Given the description of an element on the screen output the (x, y) to click on. 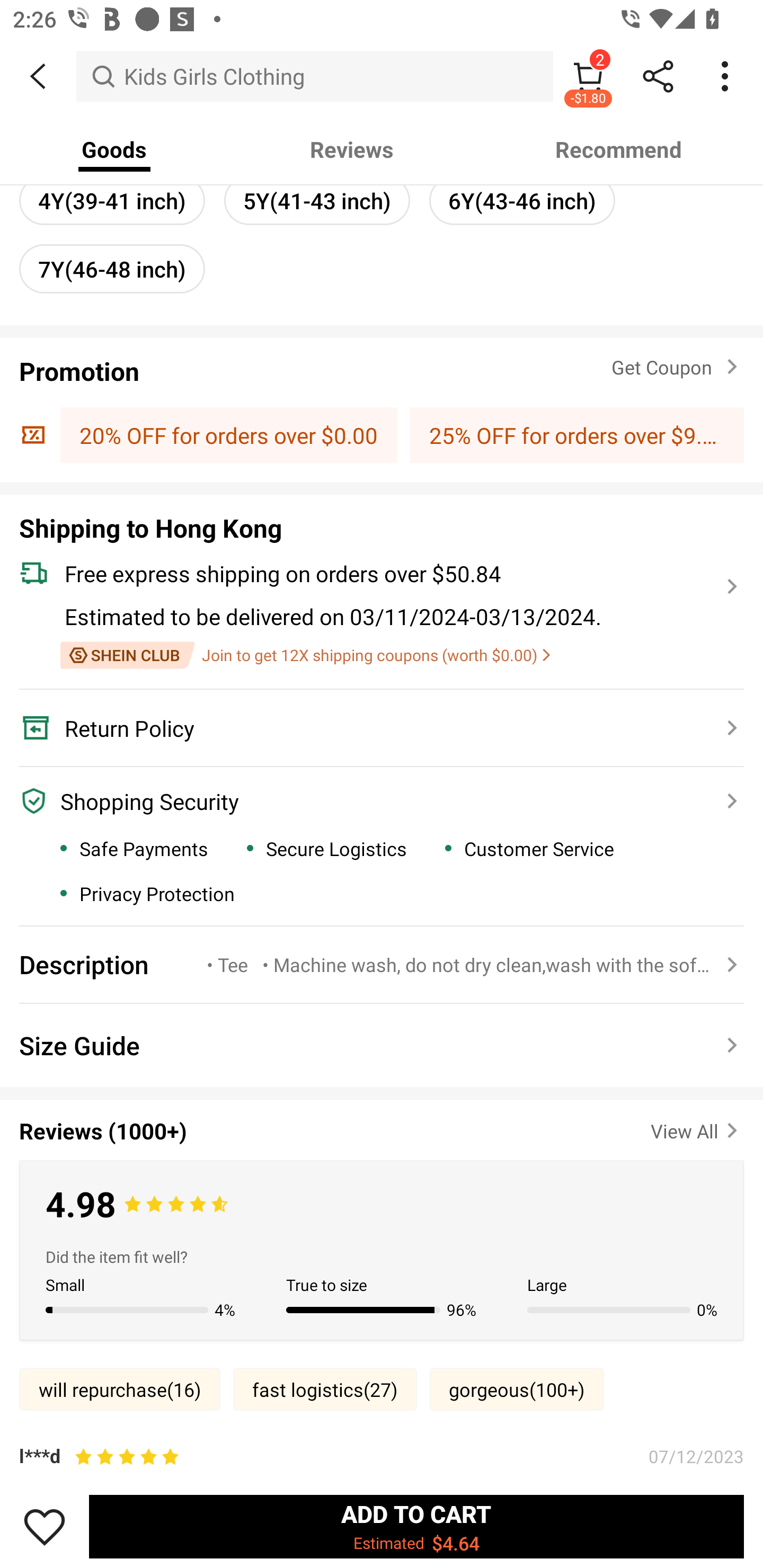
BACK (38, 75)
2 -$1.80 (588, 75)
Kids Girls Clothing (314, 75)
Goods (114, 149)
Reviews (351, 149)
Recommend (618, 149)
4Y(39-41 inch) 4Y(39-41 inch)unselected option (112, 200)
5Y(41-43 inch) 5Y(41-43 inch)unselected option (317, 200)
6Y(43-46 inch) 6Y(43-46 inch)unselected option (521, 200)
7Y(46-48 inch) 7Y(46-48 inch)unselected option (112, 268)
Join to get 12X shipping coupons (worth $0.00) (305, 655)
Return Policy (370, 728)
Size Guide (381, 1044)
will repurchase(16) (119, 1389)
fast logistics(27) (325, 1389)
gorgeous(100‎+) (516, 1389)
ADD TO CART Estimated   $4.64 (416, 1526)
Save (44, 1526)
